Given the description of an element on the screen output the (x, y) to click on. 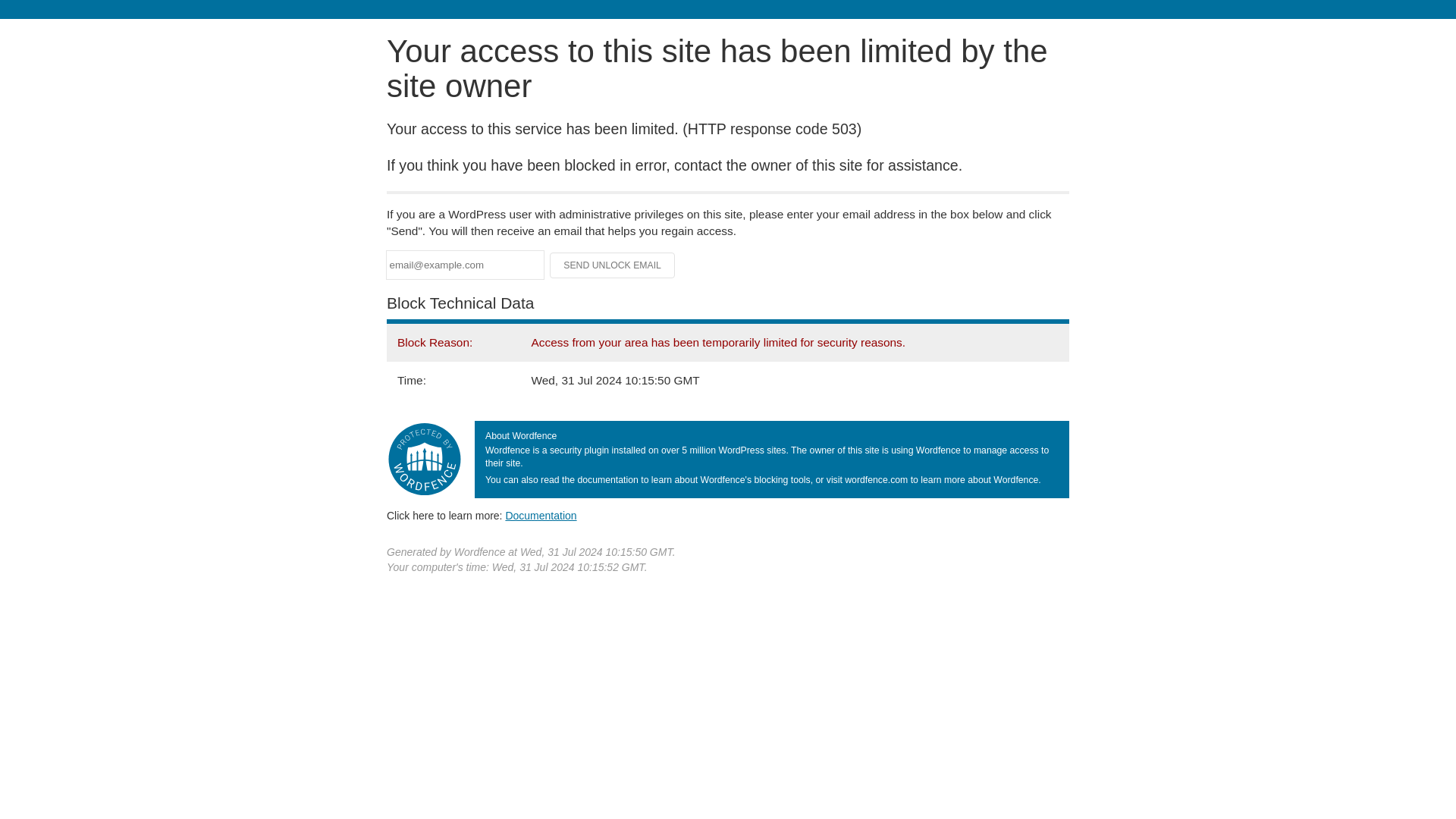
Send Unlock Email (612, 265)
Send Unlock Email (612, 265)
Documentation (540, 515)
